Given the description of an element on the screen output the (x, y) to click on. 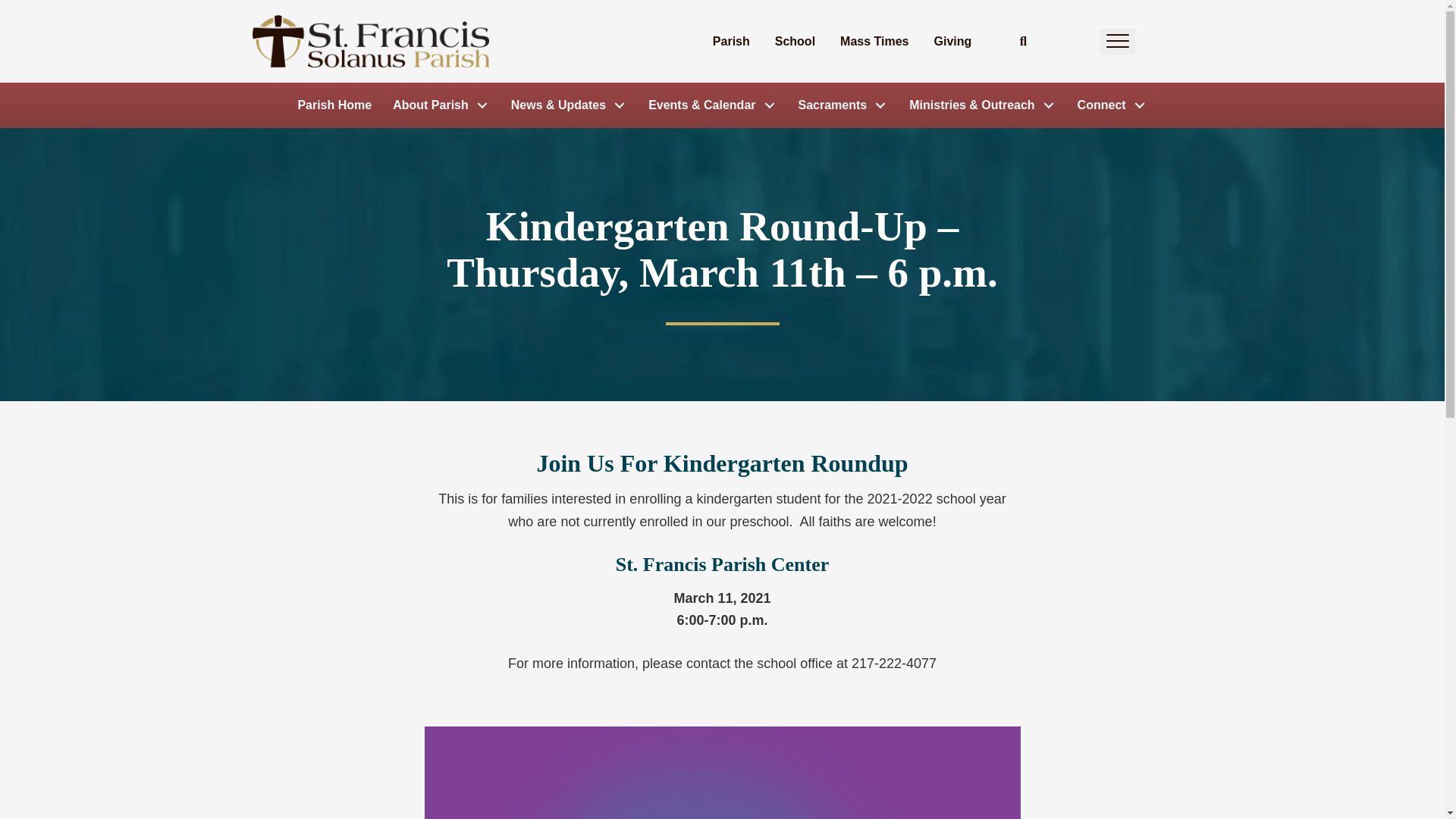
School (794, 41)
Giving (952, 41)
Mass Times (874, 41)
Parish (730, 41)
stf-logo-640-142 (369, 41)
